Given the description of an element on the screen output the (x, y) to click on. 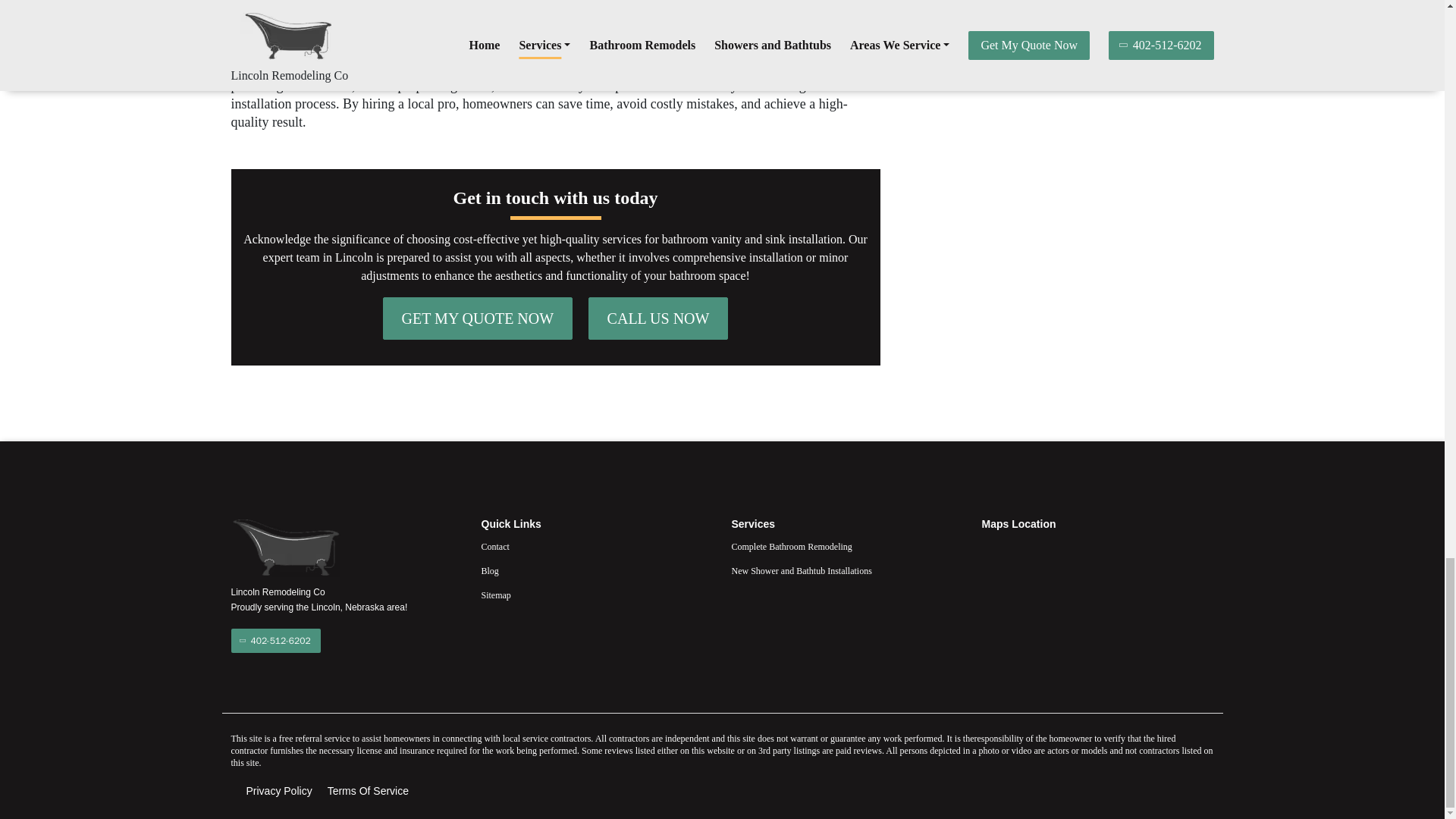
Contact (596, 546)
GET MY QUOTE NOW (477, 318)
Sitemap (596, 595)
Blog (596, 570)
CALL US NOW (658, 318)
402-512-6202 (275, 640)
